Given the description of an element on the screen output the (x, y) to click on. 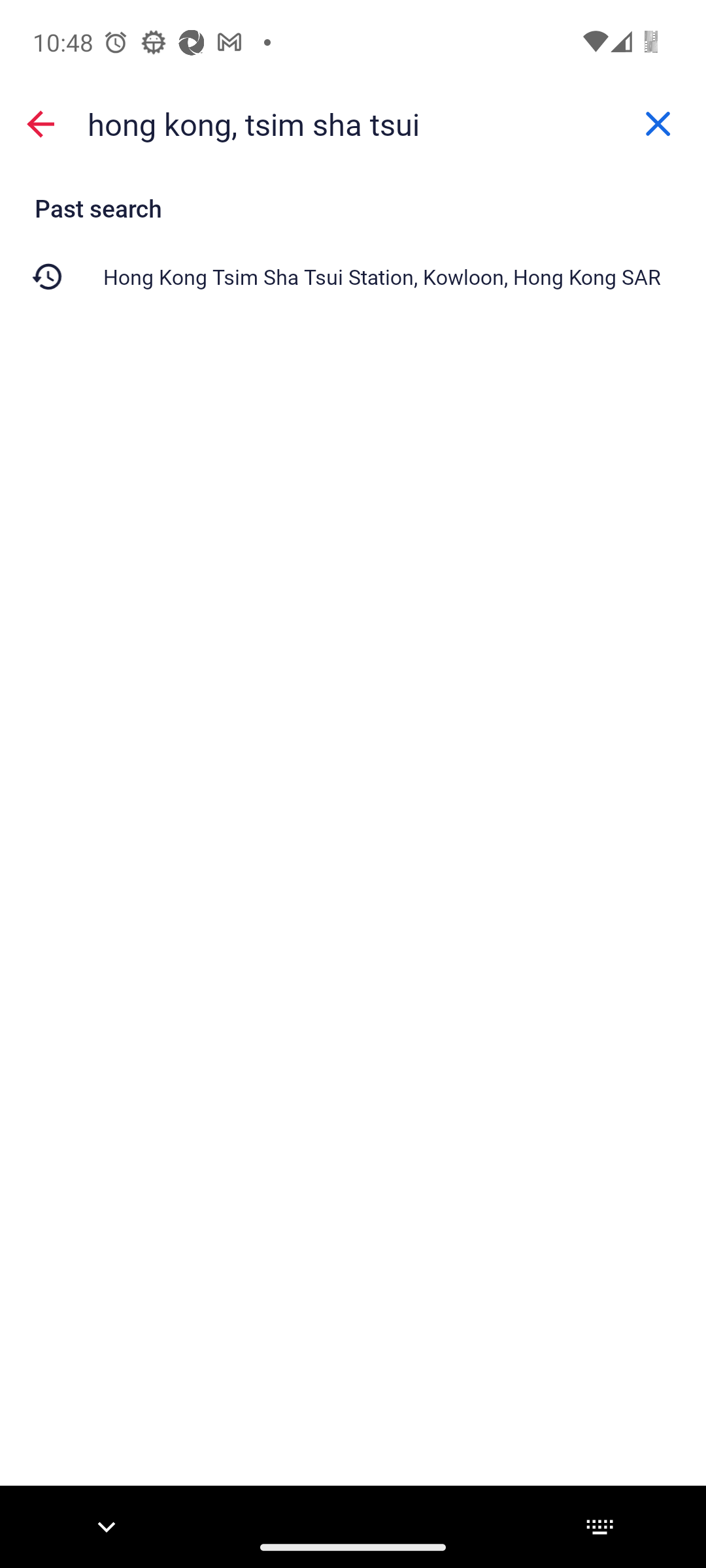
Close search screen (41, 124)
Clear Pick-up (657, 123)
Pick-up, hong kong, tsim sha tsui (352, 123)
